Given the description of an element on the screen output the (x, y) to click on. 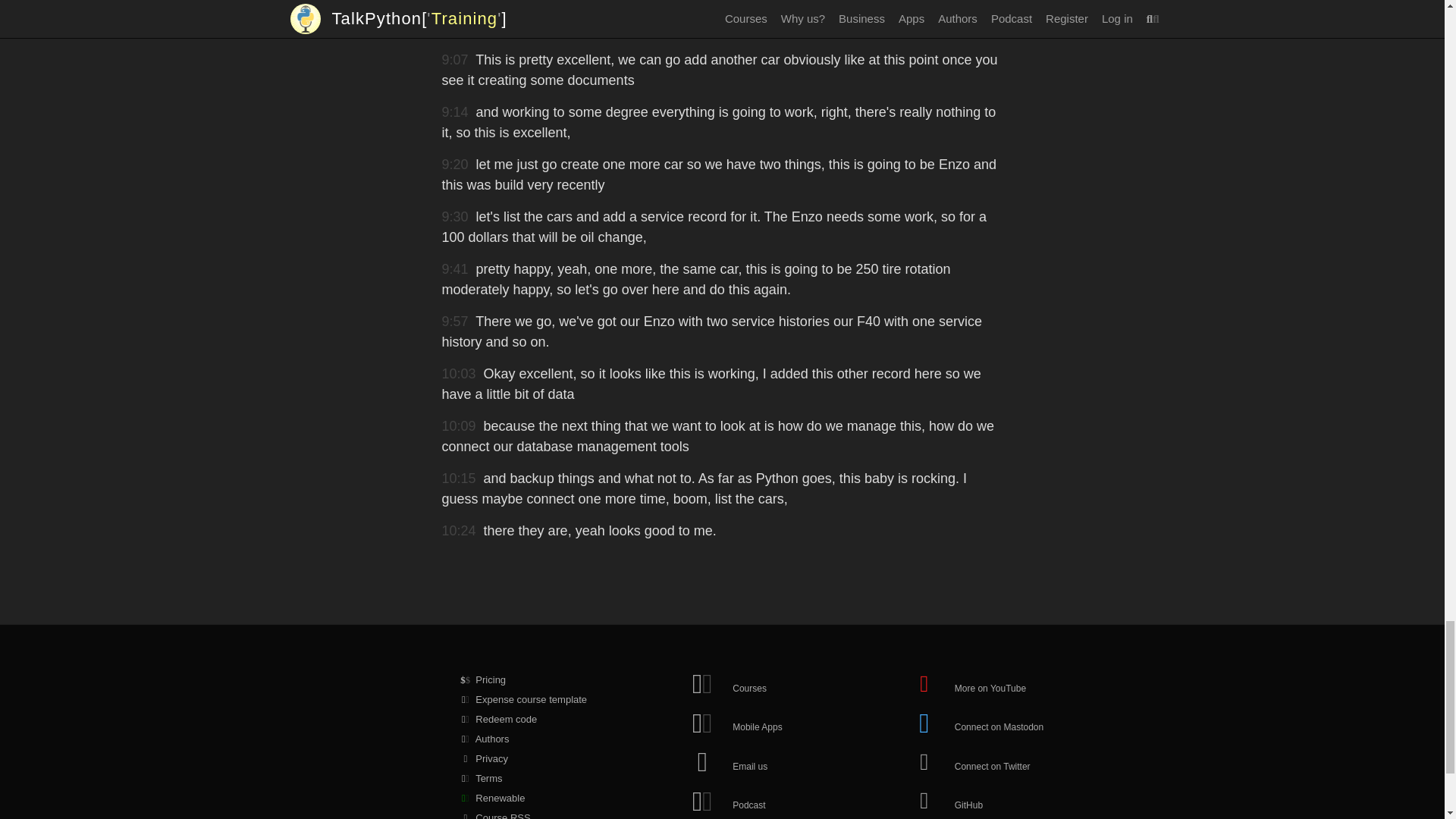
Take one of our world class Python courses (758, 681)
Mobile Apps (758, 720)
Courses (758, 681)
Connect on Twitter (981, 760)
Course RSS (537, 813)
Terms of Service (537, 778)
Email us (758, 760)
Renewable (537, 798)
Podcast (758, 798)
